Given the description of an element on the screen output the (x, y) to click on. 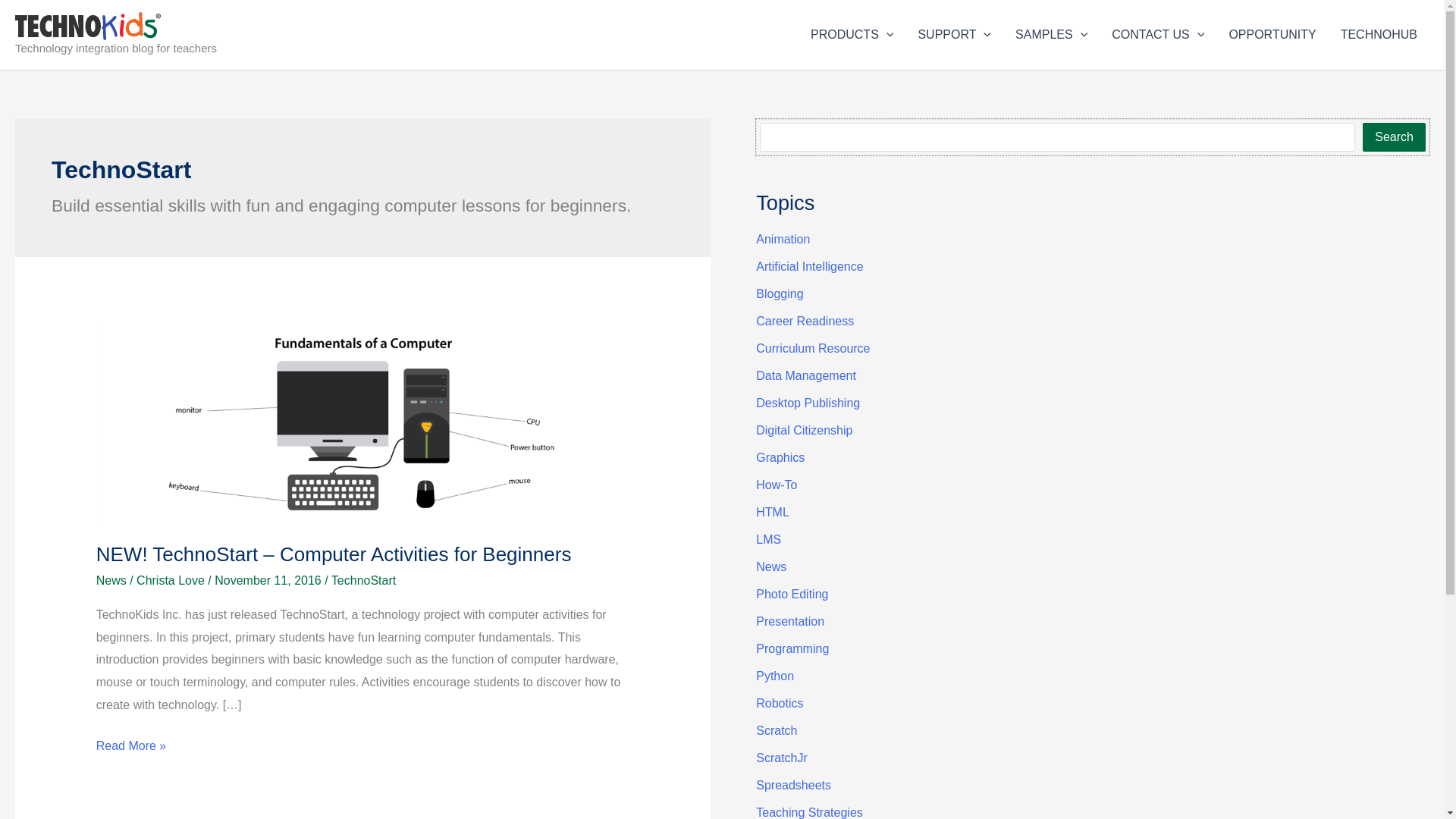
CONTACT US (1157, 34)
SAMPLES (1051, 34)
PRODUCTS (851, 34)
SUPPORT (954, 34)
OPPORTUNITY (1271, 34)
View all posts by Christa Love (172, 580)
TECHNOHUB (1378, 34)
